Given the description of an element on the screen output the (x, y) to click on. 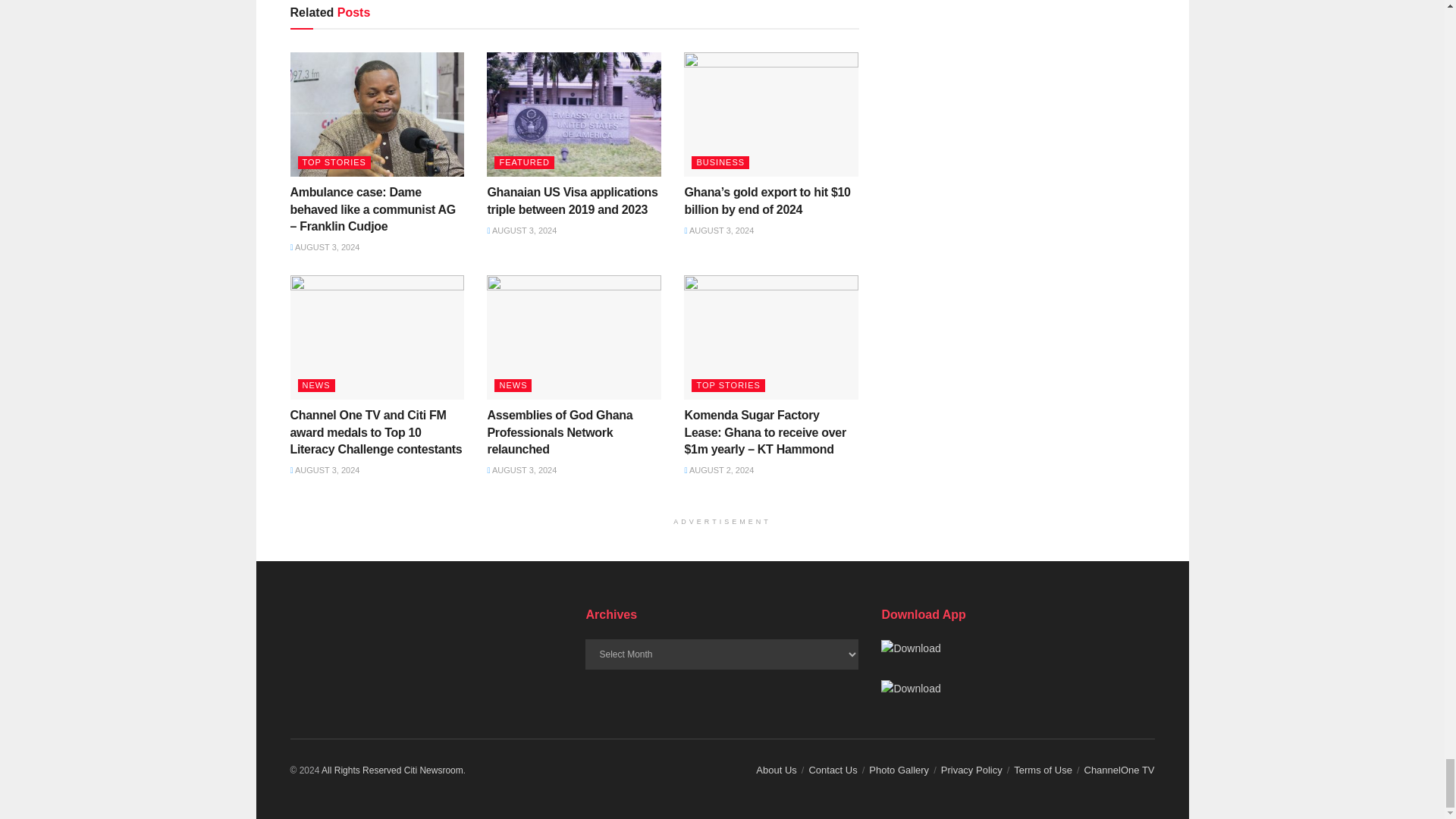
Citi Newsroom (433, 769)
App Store (910, 688)
Citi Newsroom (361, 769)
Google Play (910, 647)
